Given the description of an element on the screen output the (x, y) to click on. 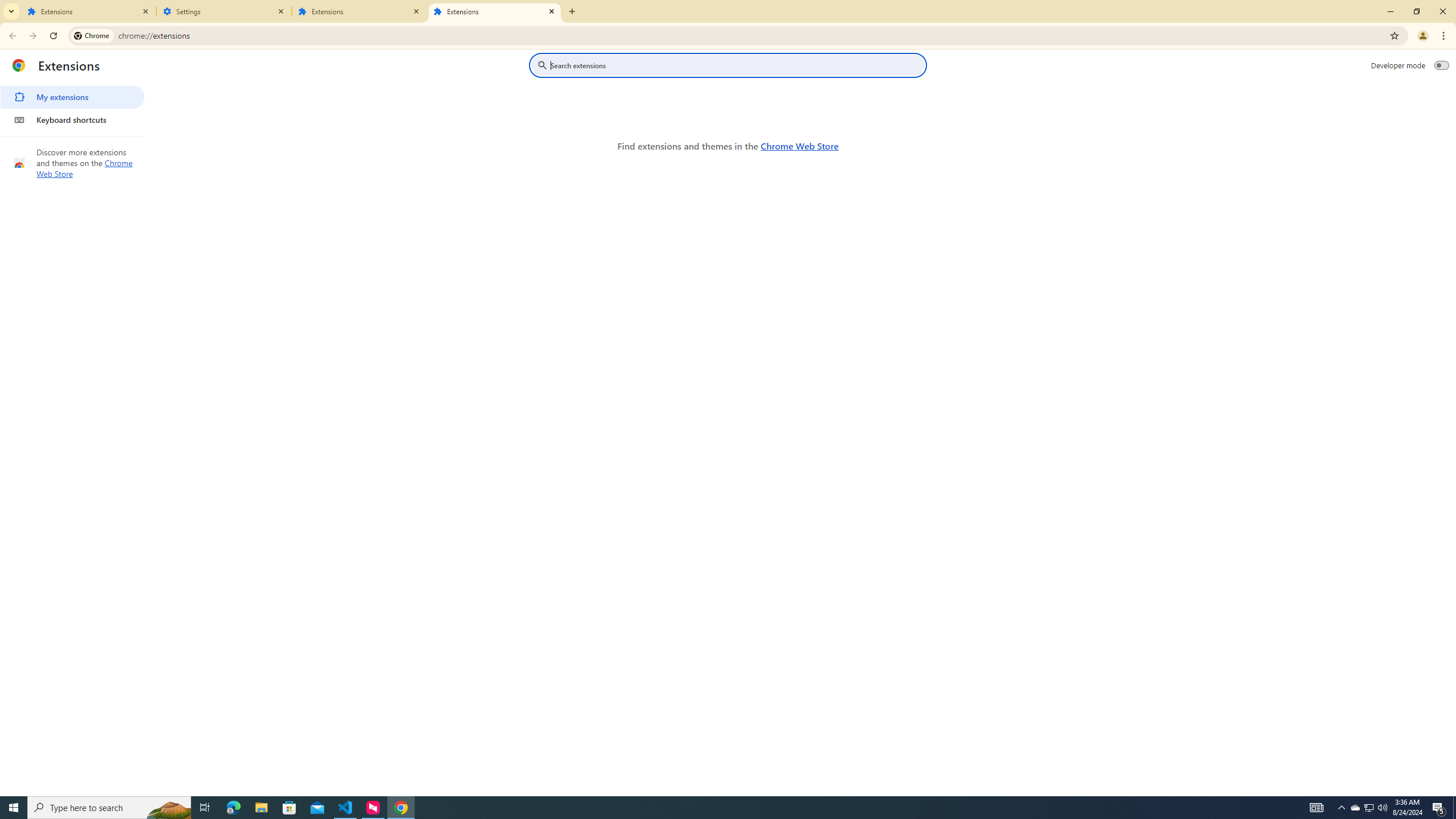
AutomationID: sectionMenu (72, 106)
Chrome Web Store (799, 145)
Extensions (359, 11)
Settings (224, 11)
My extensions (72, 96)
Extensions (494, 11)
Extensions (88, 11)
